Given the description of an element on the screen output the (x, y) to click on. 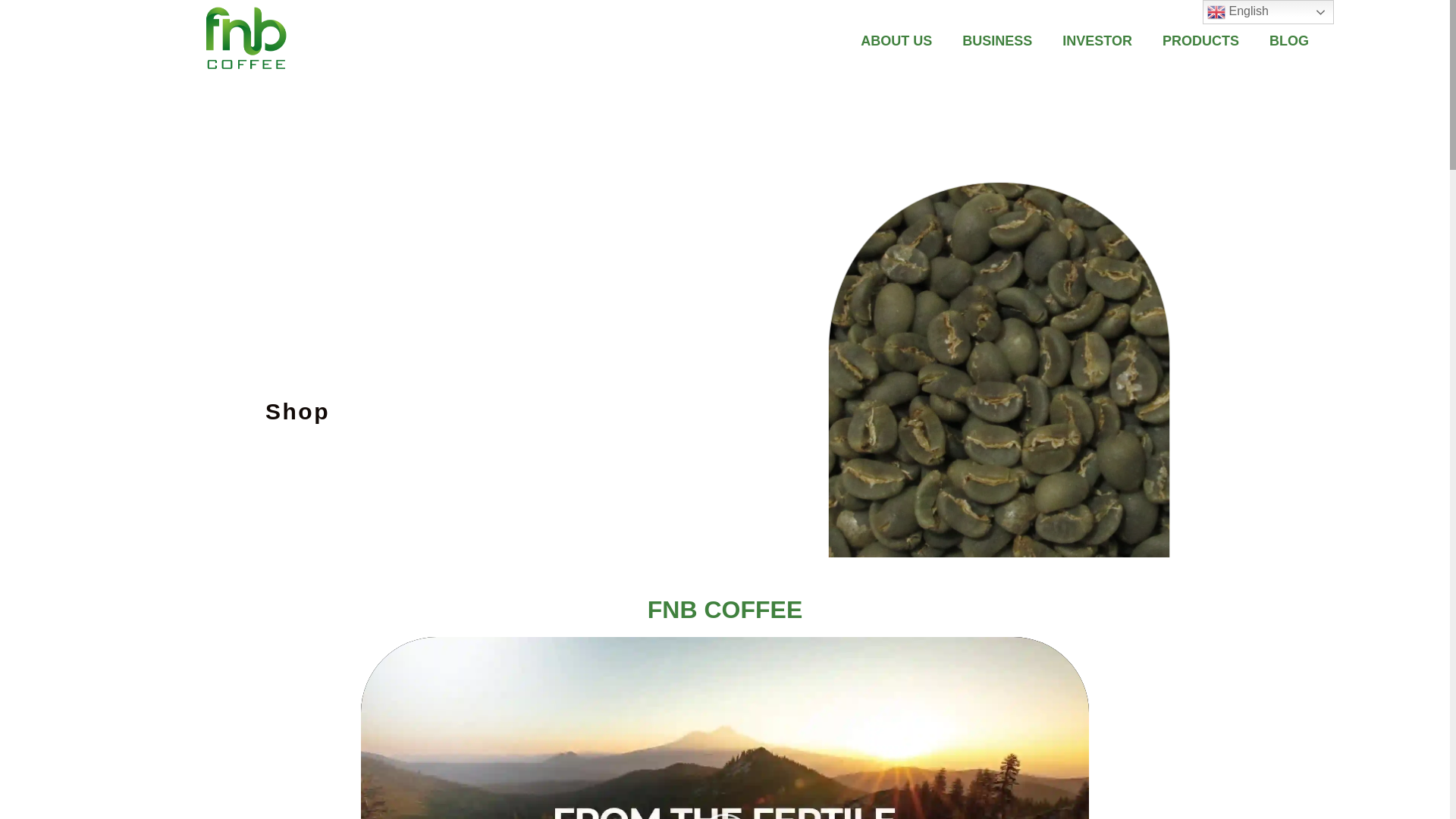
INVESTOR (1096, 40)
Shop (297, 411)
BUSINESS (996, 40)
ABOUT US (896, 40)
